Given the description of an element on the screen output the (x, y) to click on. 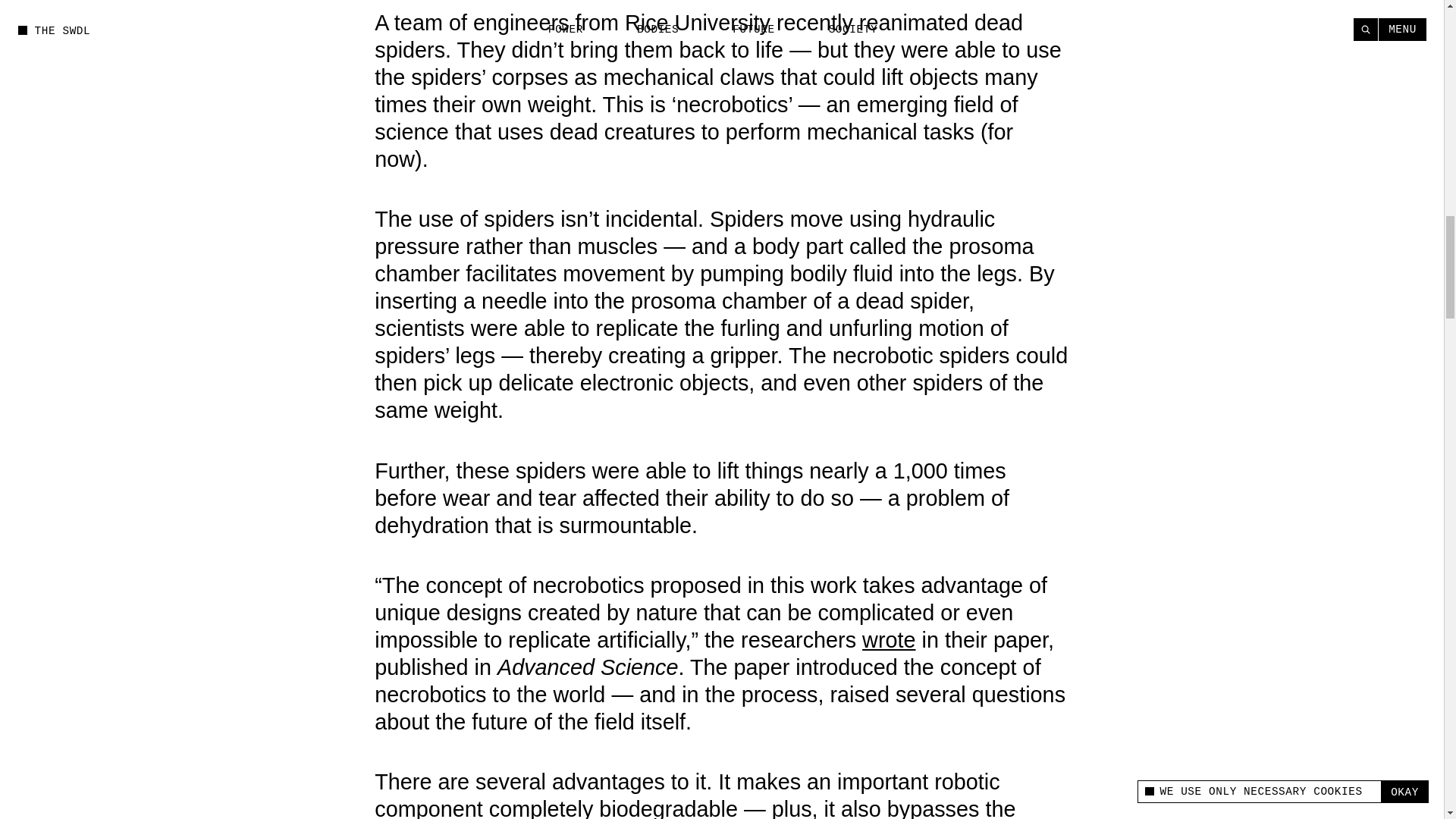
wrote (888, 639)
